Given the description of an element on the screen output the (x, y) to click on. 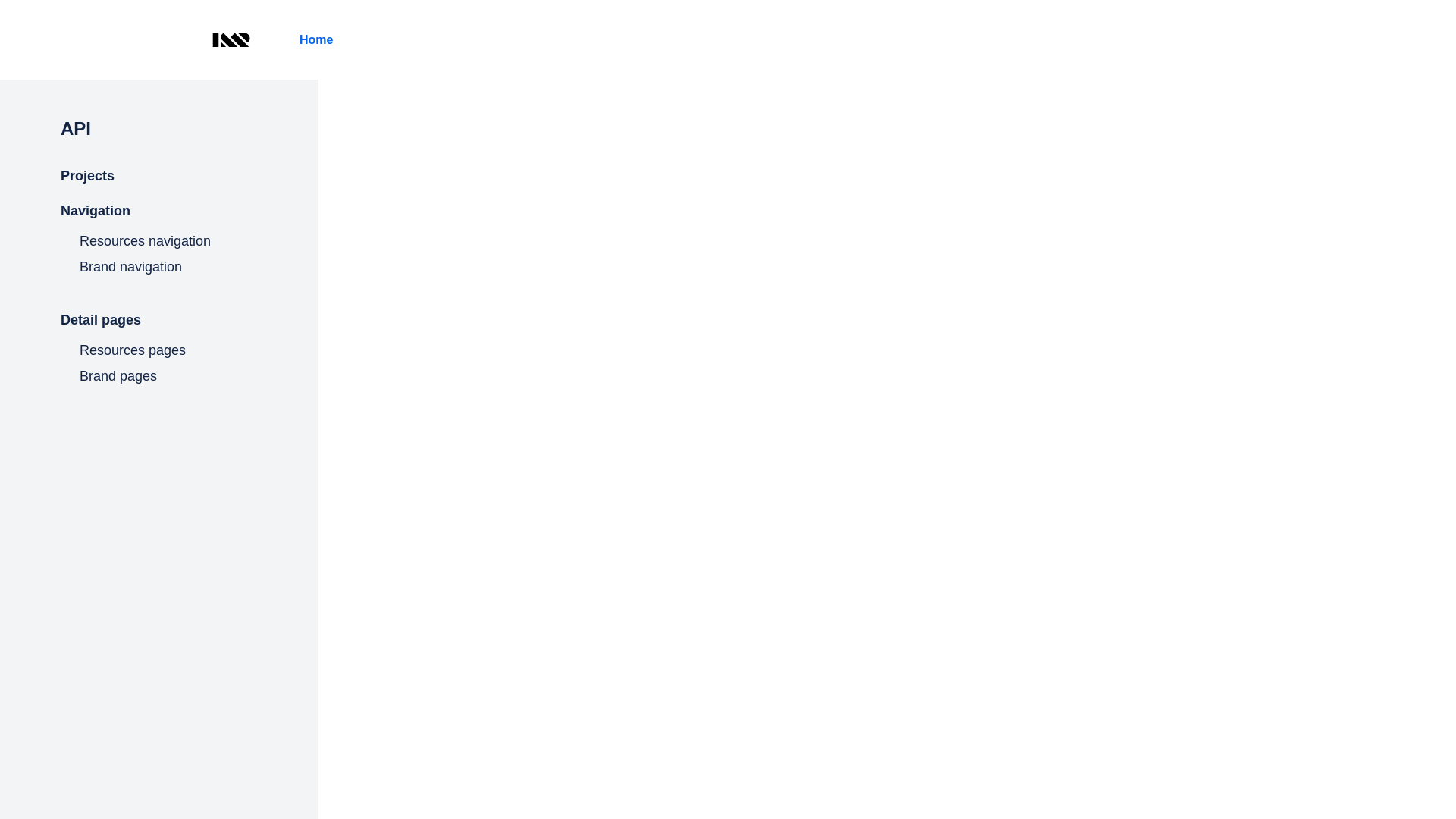
Resources navigation Element type: text (189, 241)
Home Element type: text (315, 39)
Little Miss Robot Element type: hover (231, 39)
Detail pages Element type: text (189, 319)
Projects Element type: text (189, 175)
Navigation Element type: text (189, 210)
Brand navigation Element type: text (189, 266)
Brand pages Element type: text (189, 376)
Resources pages Element type: text (189, 350)
